Given the description of an element on the screen output the (x, y) to click on. 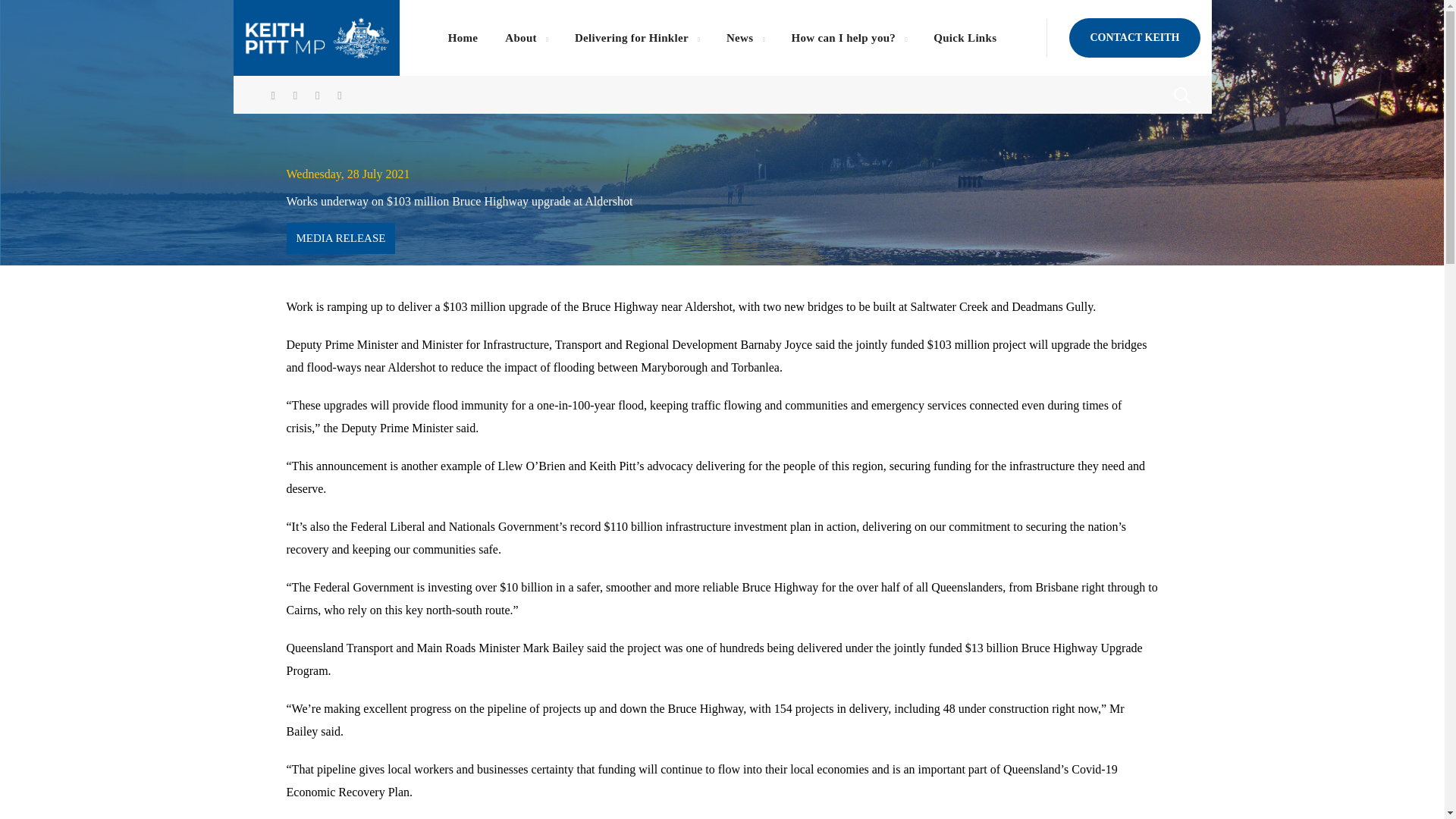
CONTACT KEITH (1133, 37)
Quick Links (965, 38)
Delivering for Hinkler (636, 38)
Search (1141, 151)
About (526, 38)
How can I help you? (848, 38)
